Given the description of an element on the screen output the (x, y) to click on. 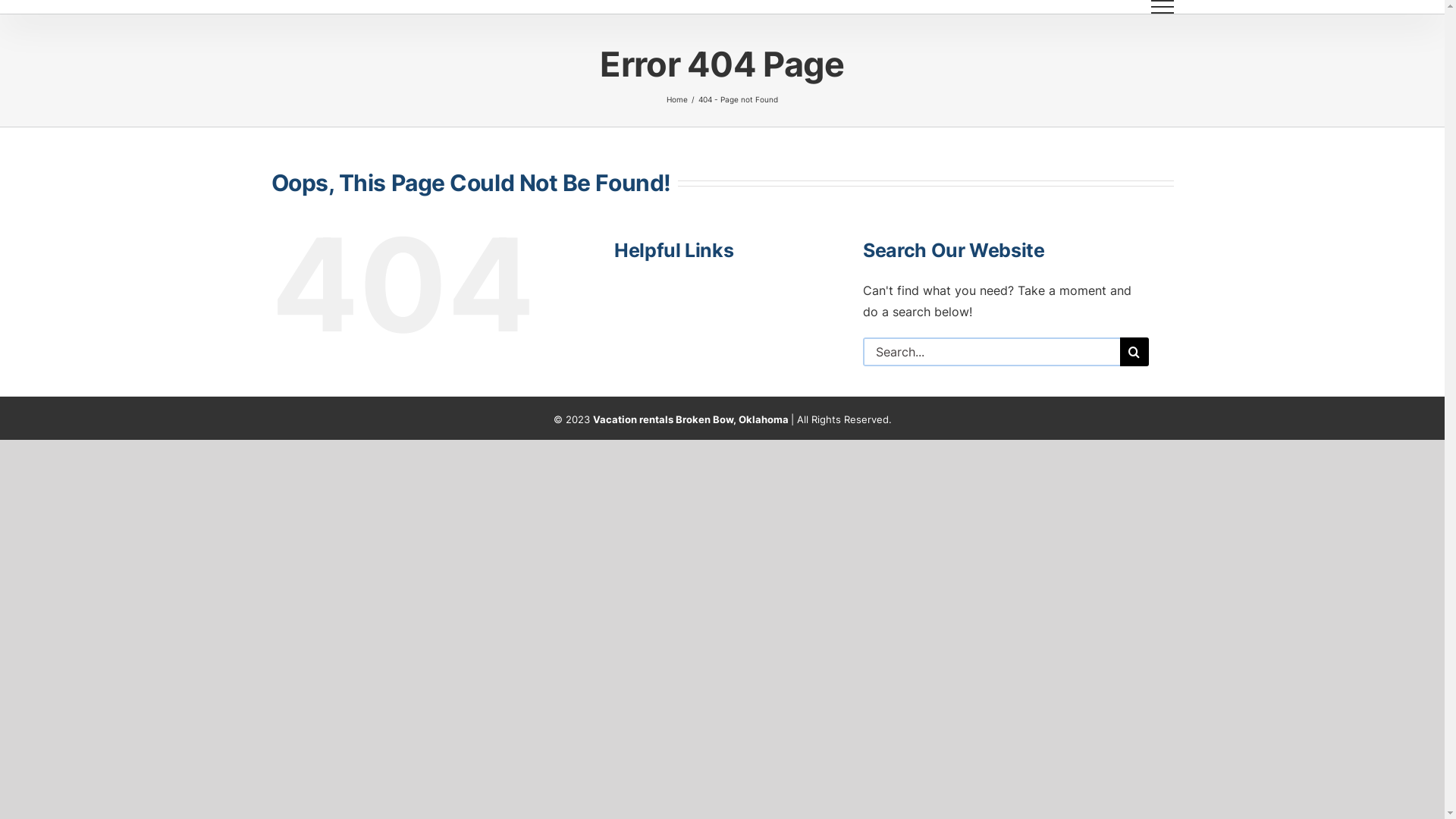
Home Element type: text (676, 98)
